Given the description of an element on the screen output the (x, y) to click on. 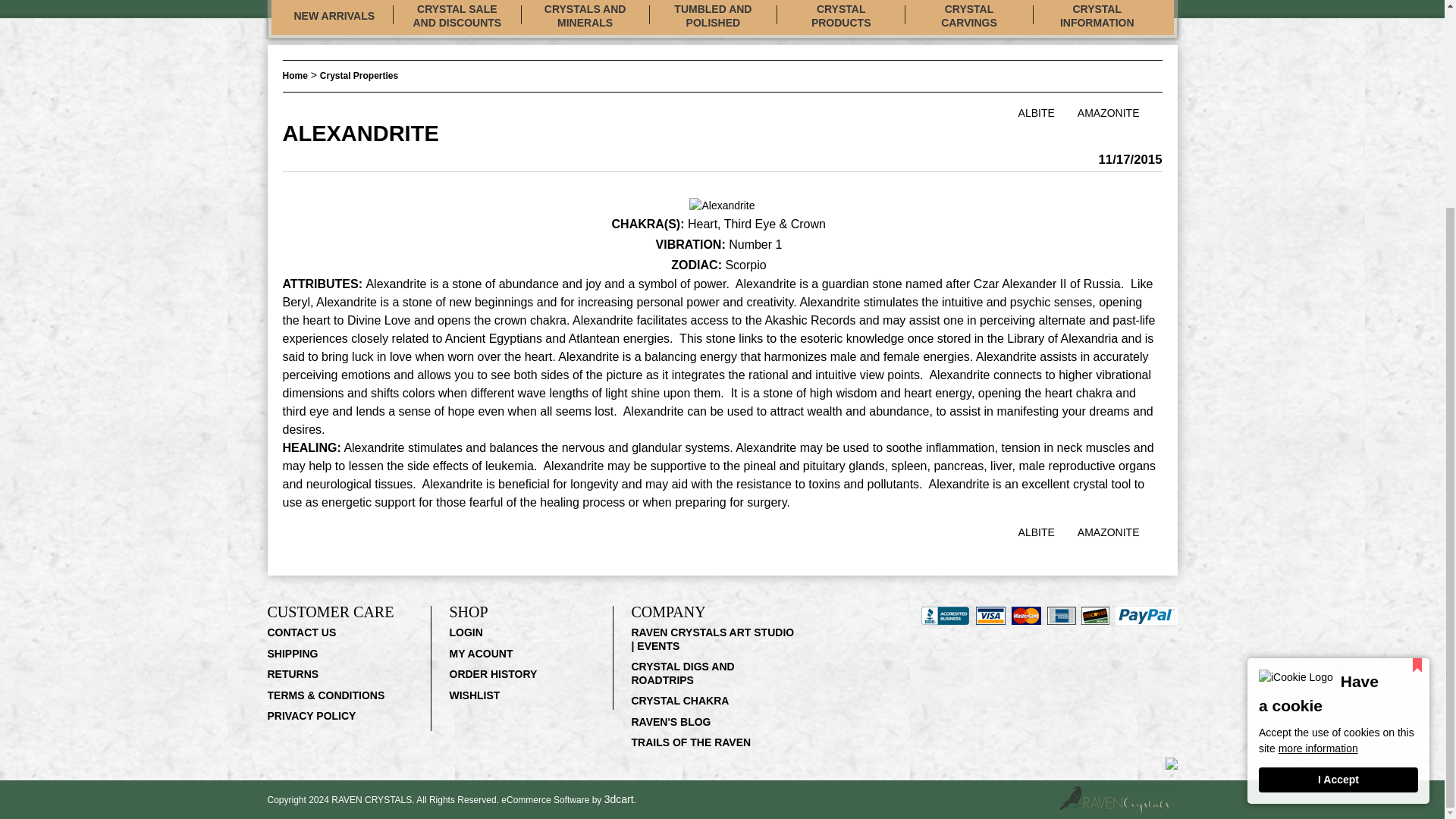
CRYSTAL SALE AND DISCOUNTS (457, 18)
CRYSTALS AND MINERALS (585, 18)
CRYSTAL PRODUCTS (840, 18)
CRYSTAL CARVINGS (968, 18)
TUMBLED AND POLISHED (712, 18)
NEW ARRIVALS (334, 16)
